Given the description of an element on the screen output the (x, y) to click on. 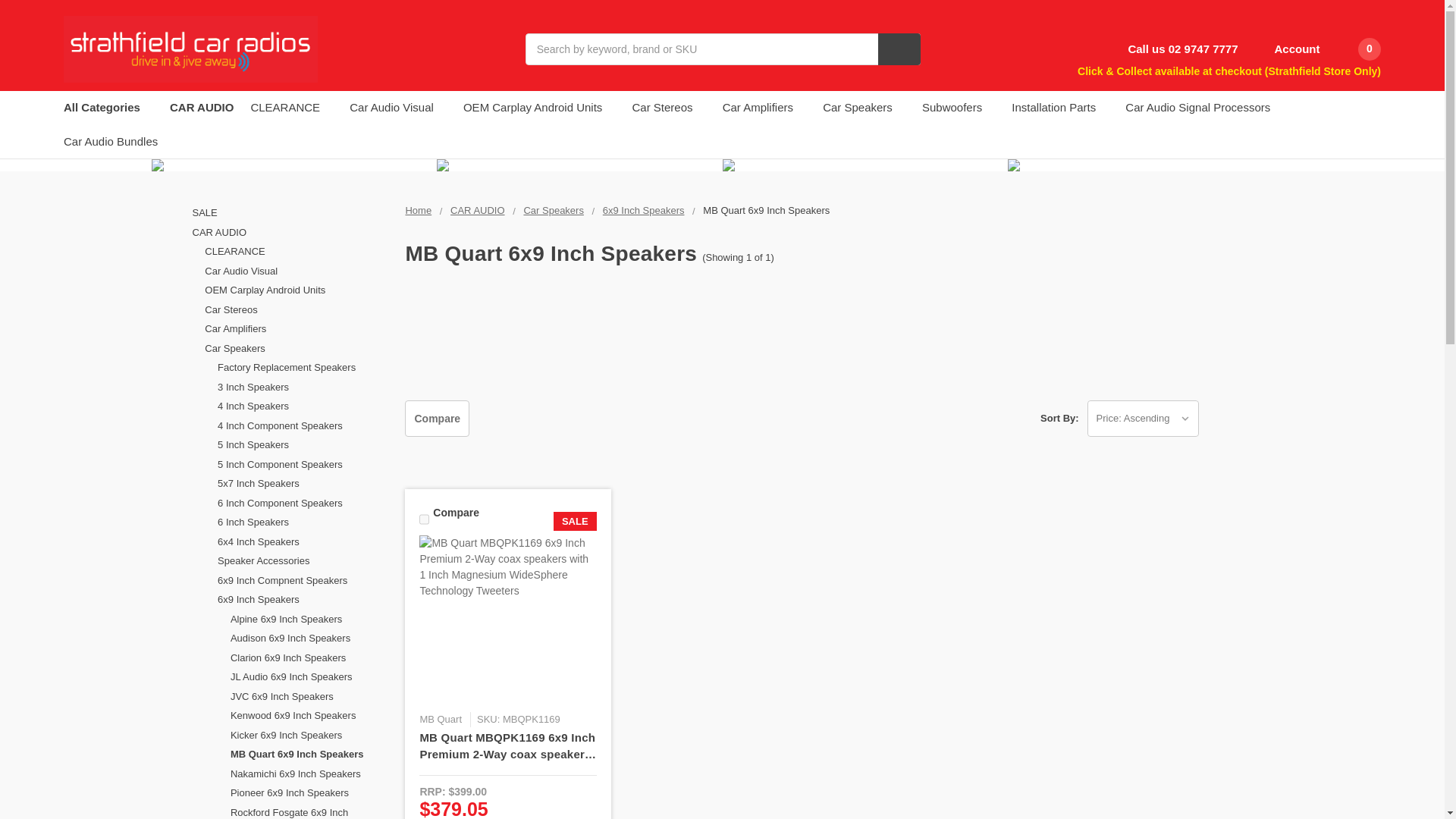
Car Amplifiers (296, 329)
OEM Carplay Android Units (296, 290)
CAR AUDIO (290, 232)
Speaker Accessories (302, 560)
SALE (290, 212)
Account (1286, 49)
Car Speakers (296, 348)
www.strathfieldcarradios.com.au (190, 48)
Factory Replacement Speakers (302, 367)
3 Inch Speakers (302, 387)
